Given the description of an element on the screen output the (x, y) to click on. 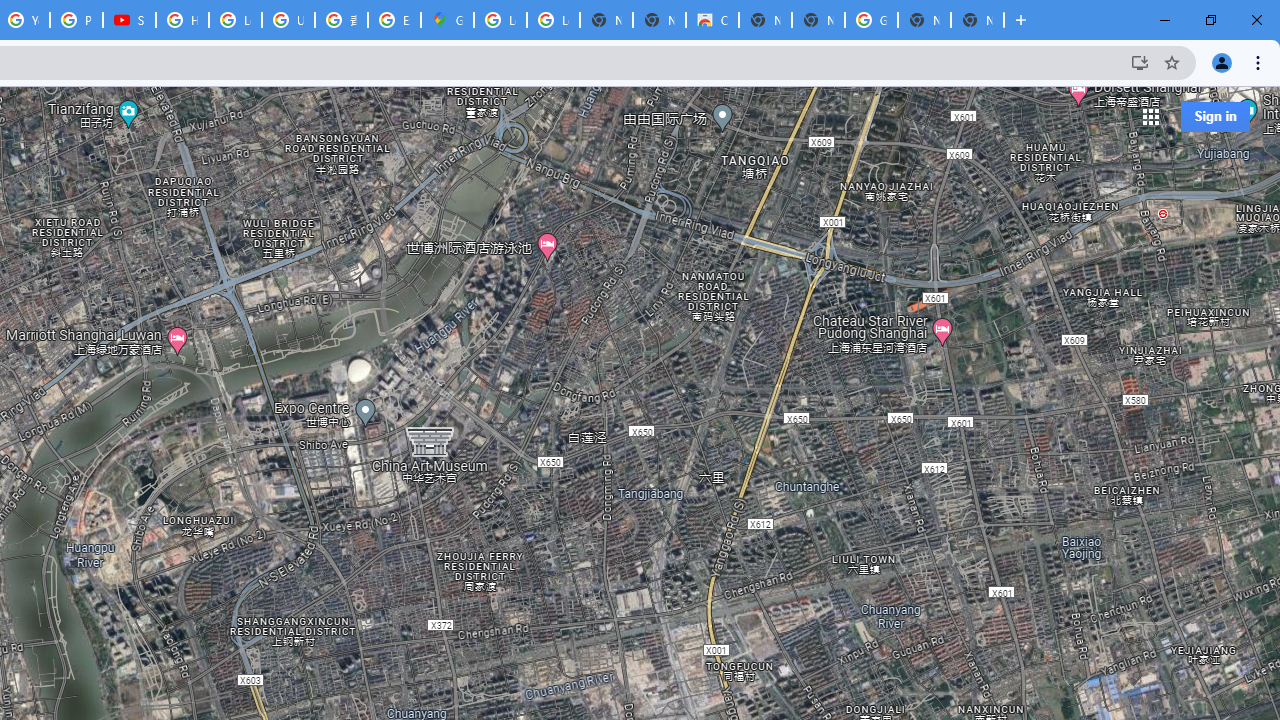
New Tab (977, 20)
Explore new street-level details - Google Maps Help (394, 20)
Install Google Maps (1139, 62)
Chrome Web Store (712, 20)
Google Maps (447, 20)
